Given the description of an element on the screen output the (x, y) to click on. 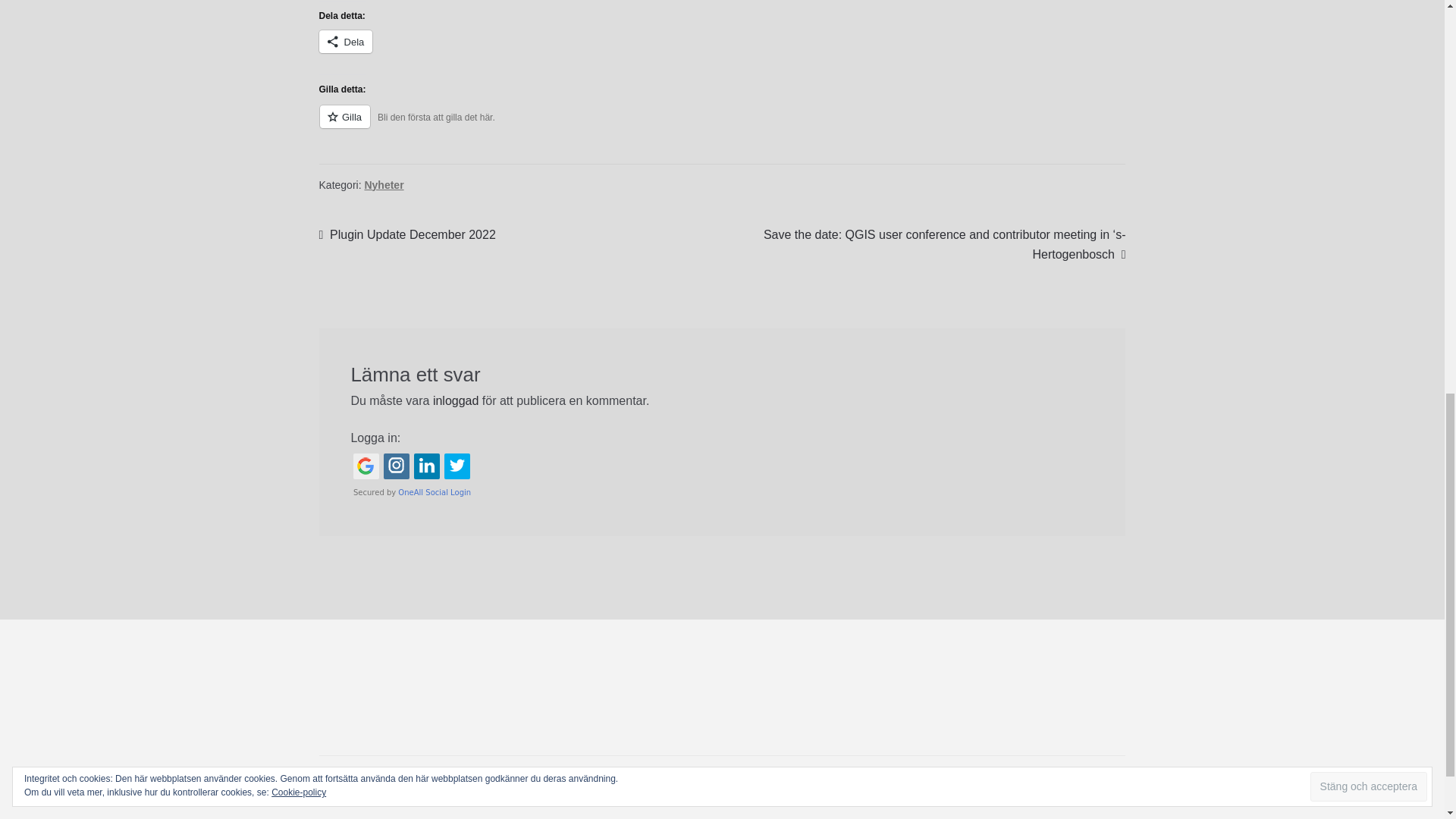
Nyheter (383, 184)
inloggad (455, 400)
Dela (345, 41)
Gilla eller reblogga (721, 125)
Login with Social Networks (721, 474)
